Given the description of an element on the screen output the (x, y) to click on. 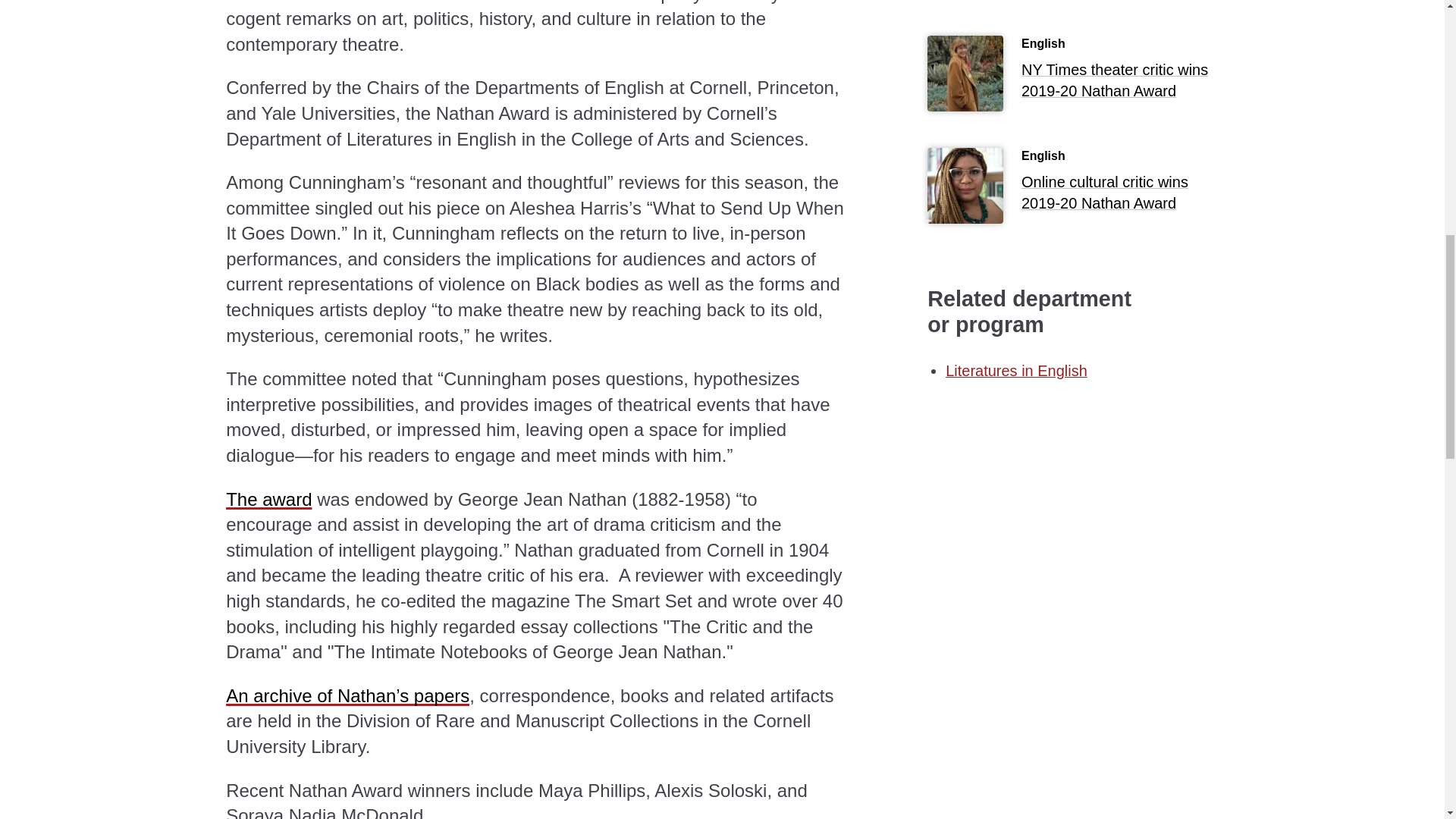
NY Times theater critic wins 2019-20 Nathan Award (1120, 83)
Online cultural critic wins 2019-20 Nathan Award (1120, 195)
